Given the description of an element on the screen output the (x, y) to click on. 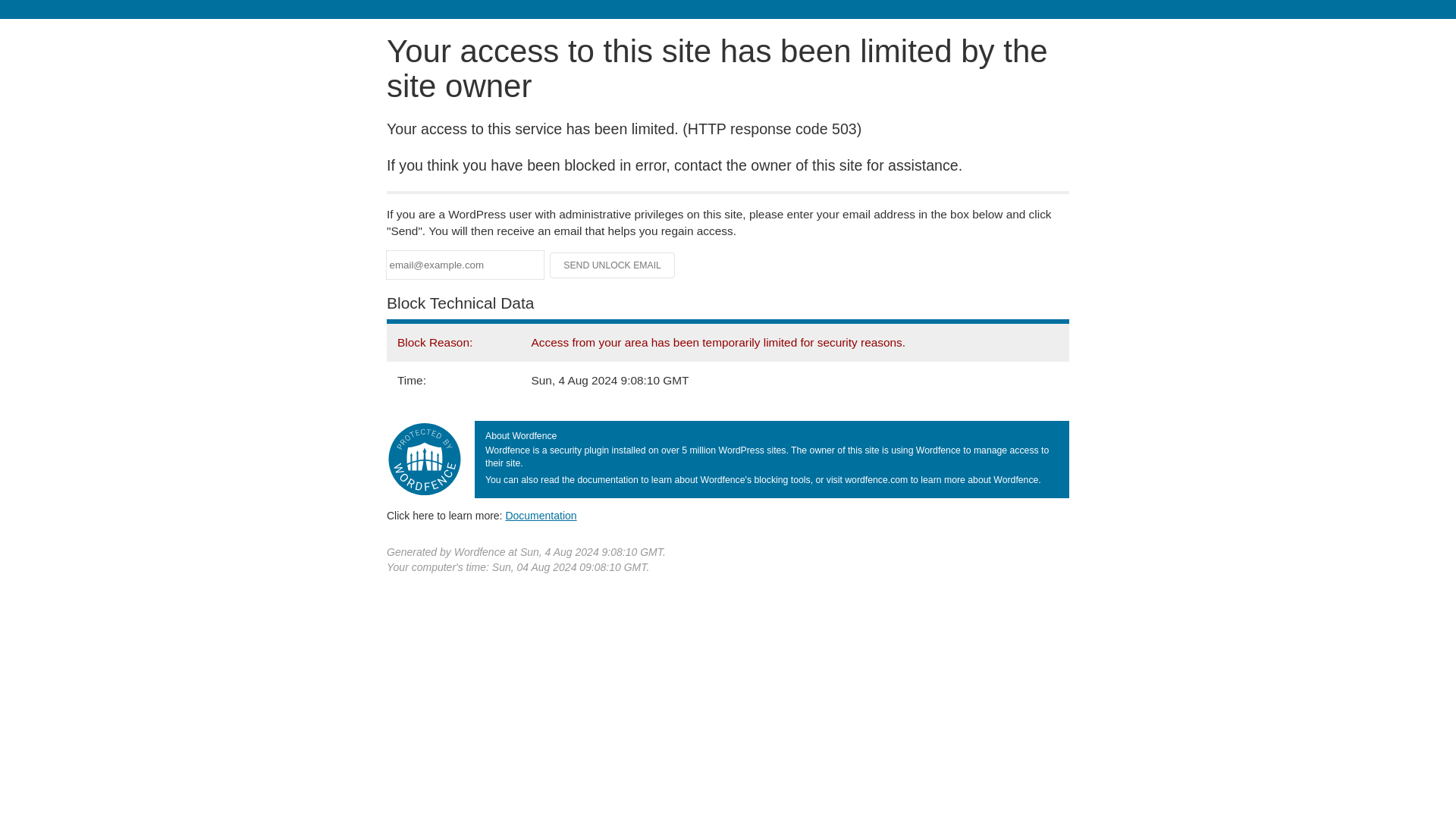
Documentation (540, 515)
Send Unlock Email (612, 265)
Send Unlock Email (612, 265)
